Given the description of an element on the screen output the (x, y) to click on. 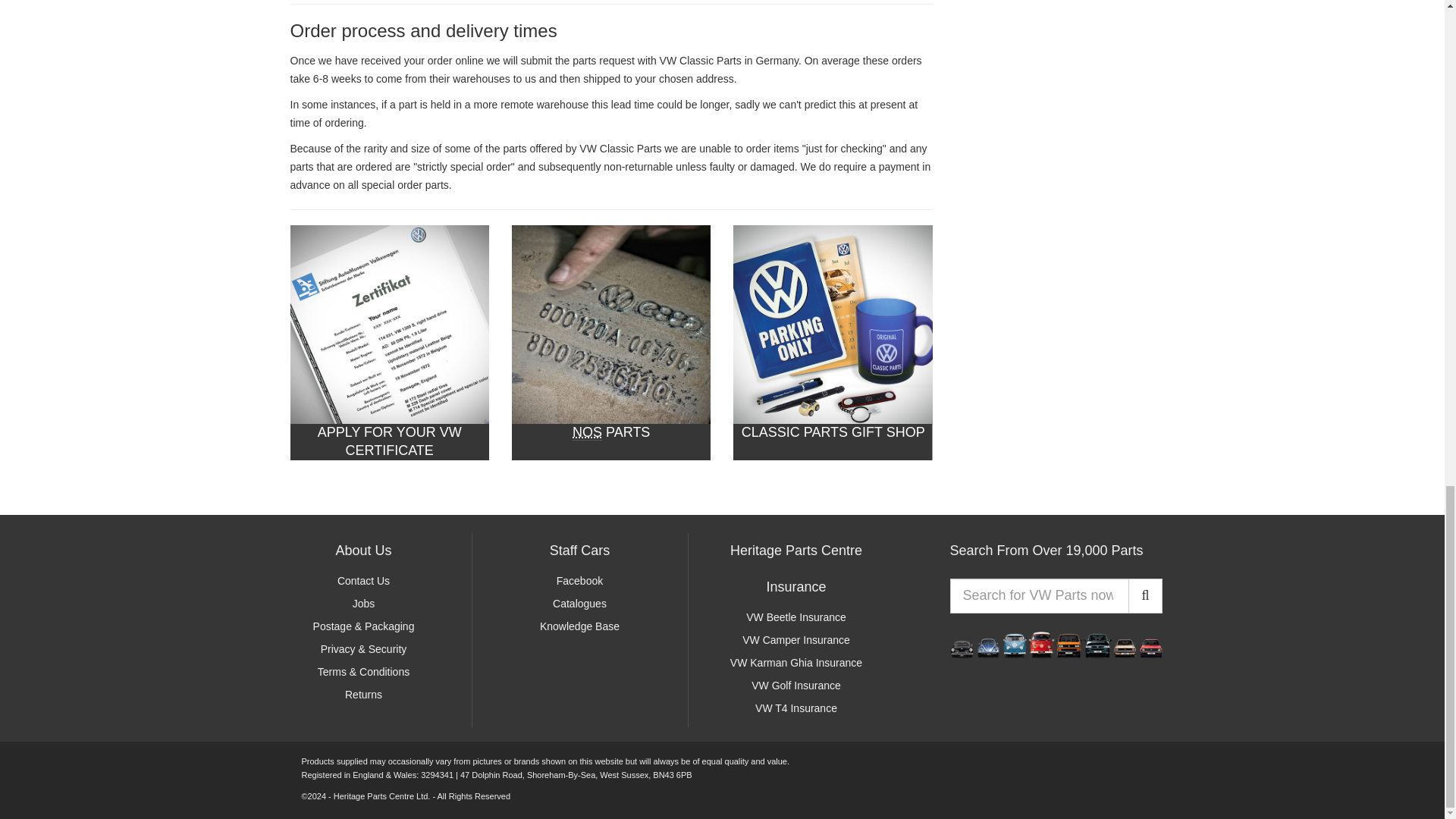
New old stock (587, 432)
